Given the description of an element on the screen output the (x, y) to click on. 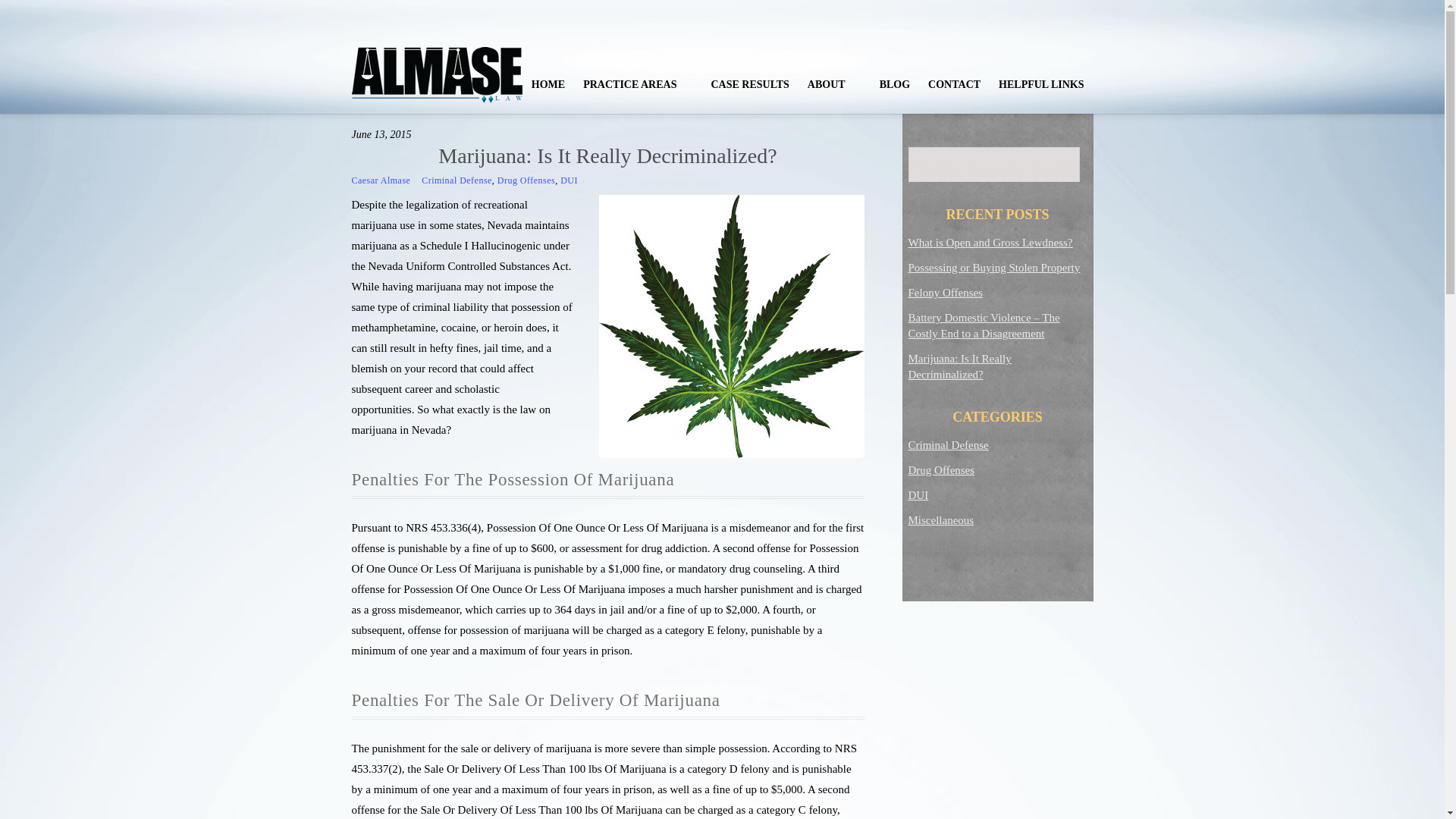
Criminal Lawyer Las Vegas (437, 74)
Possessing or Buying Stolen Property (994, 267)
What is Open and Gross Lewdness? (990, 242)
HELPFUL LINKS (1041, 85)
CASE RESULTS (749, 85)
CONTACT (954, 85)
BLOG (894, 85)
Drug Offenses (525, 180)
ABOUT (833, 85)
Search (994, 164)
HOME (547, 85)
Drug Offenses (941, 469)
Felony Offenses (945, 292)
Miscellaneous (941, 520)
DUI (569, 180)
